Given the description of an element on the screen output the (x, y) to click on. 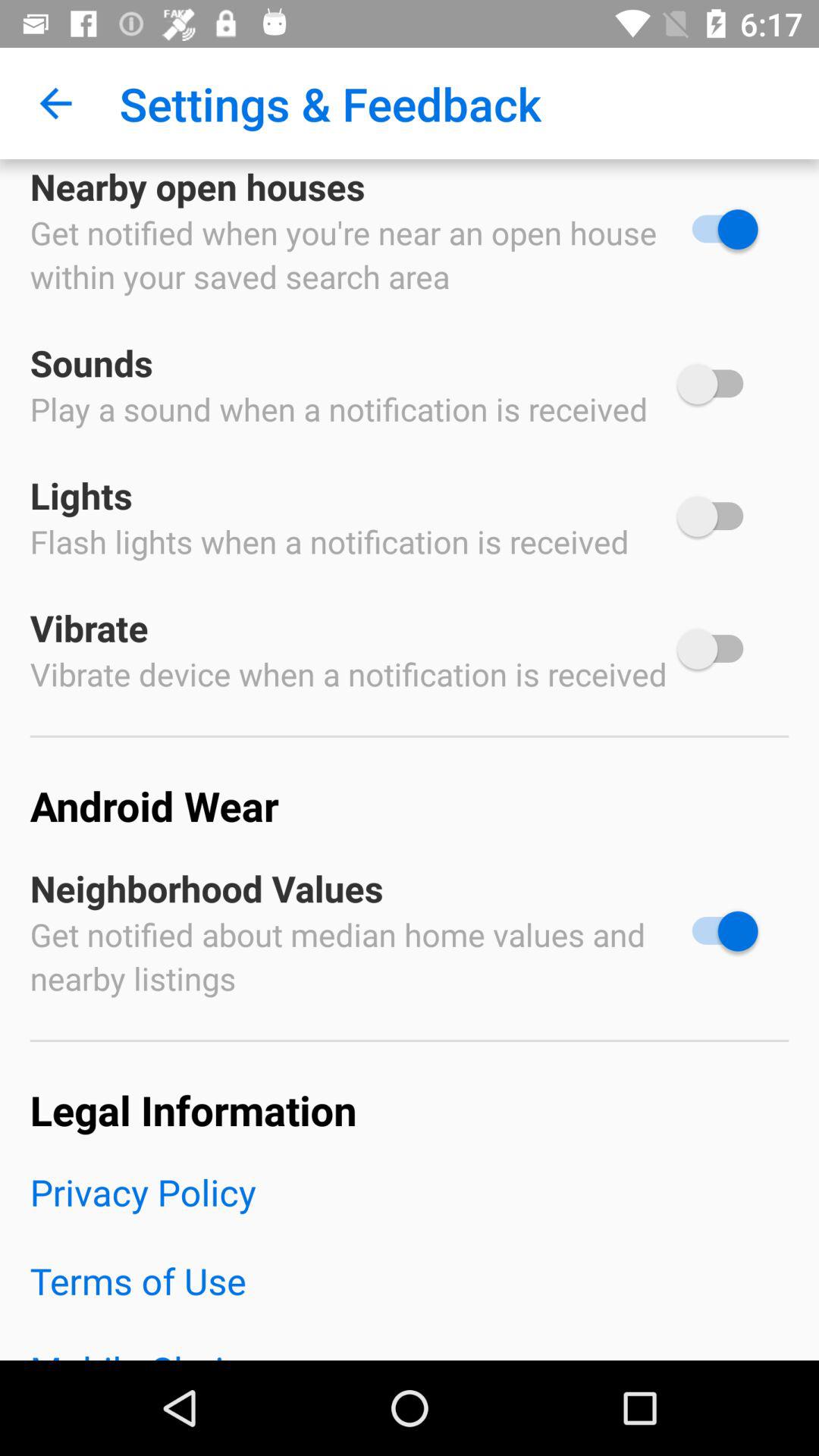
toggle sounds option (717, 384)
